Given the description of an element on the screen output the (x, y) to click on. 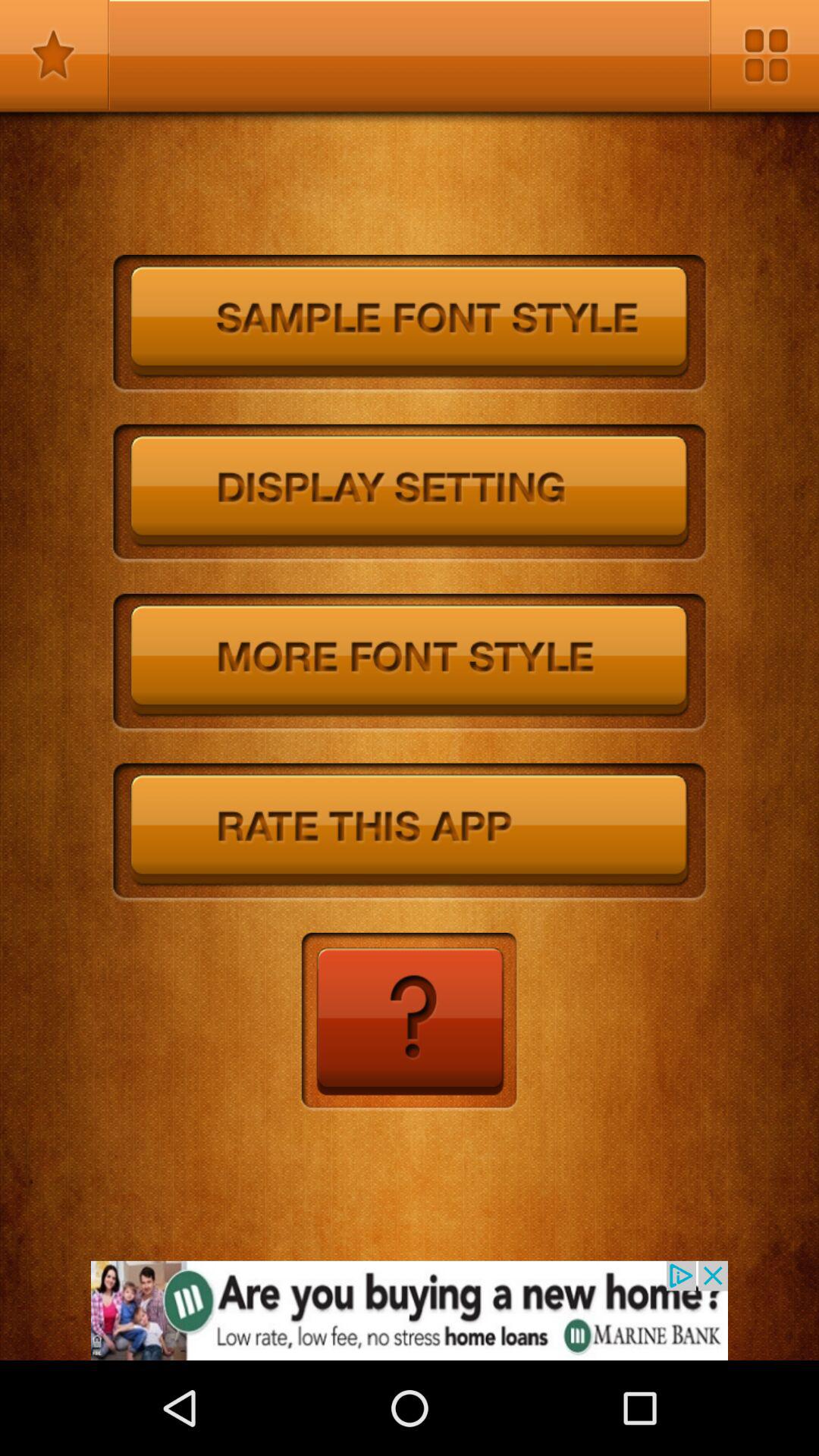
share the article (409, 1310)
